Given the description of an element on the screen output the (x, y) to click on. 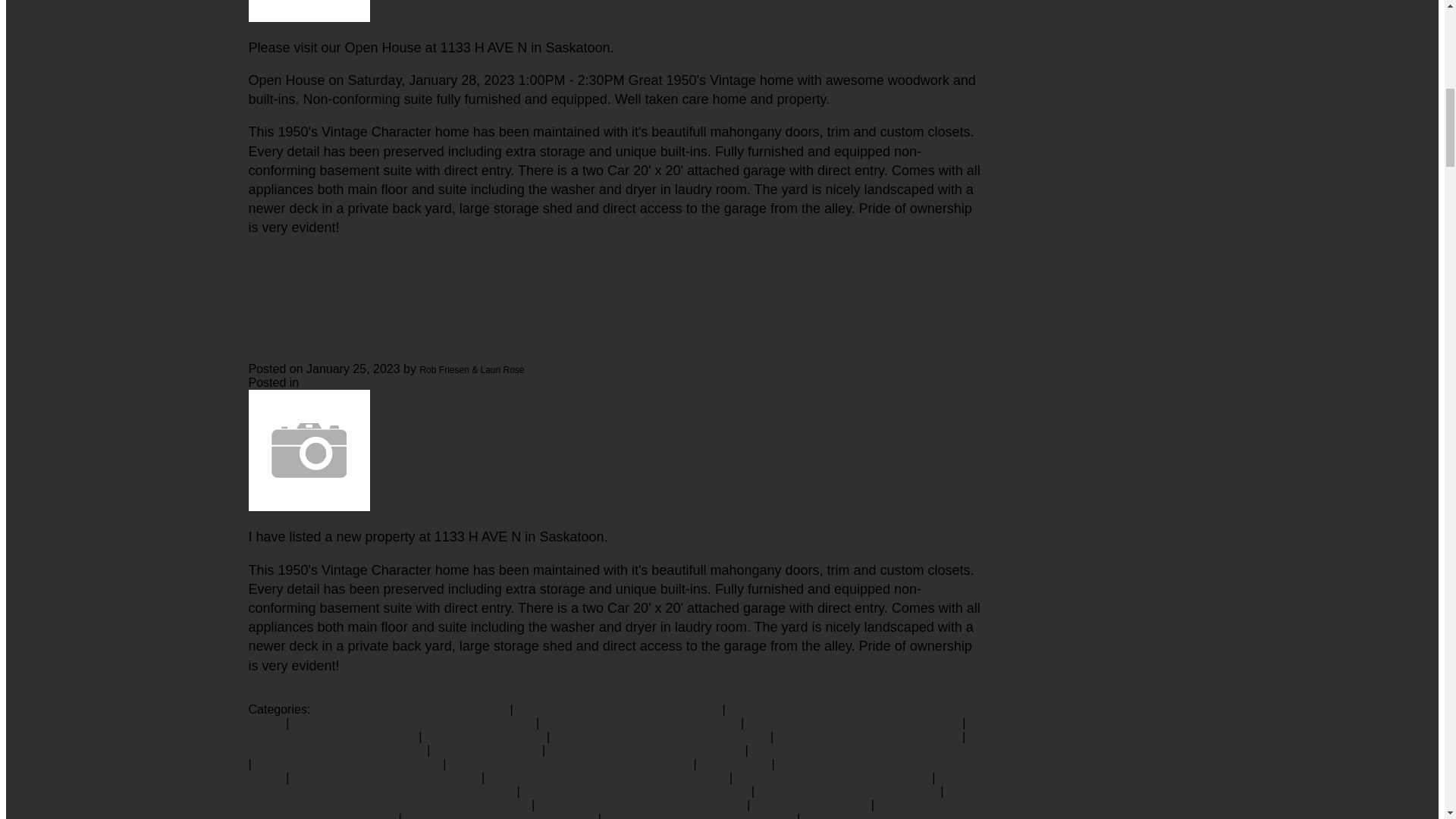
Hudson Bay Park, Saskatoon Real Estate (414, 382)
Read full post (616, 12)
New property listed in Hudson Bay Park, Saskatoon (457, 335)
Read (263, 257)
See details here (666, 47)
Read full post (616, 451)
